Given the description of an element on the screen output the (x, y) to click on. 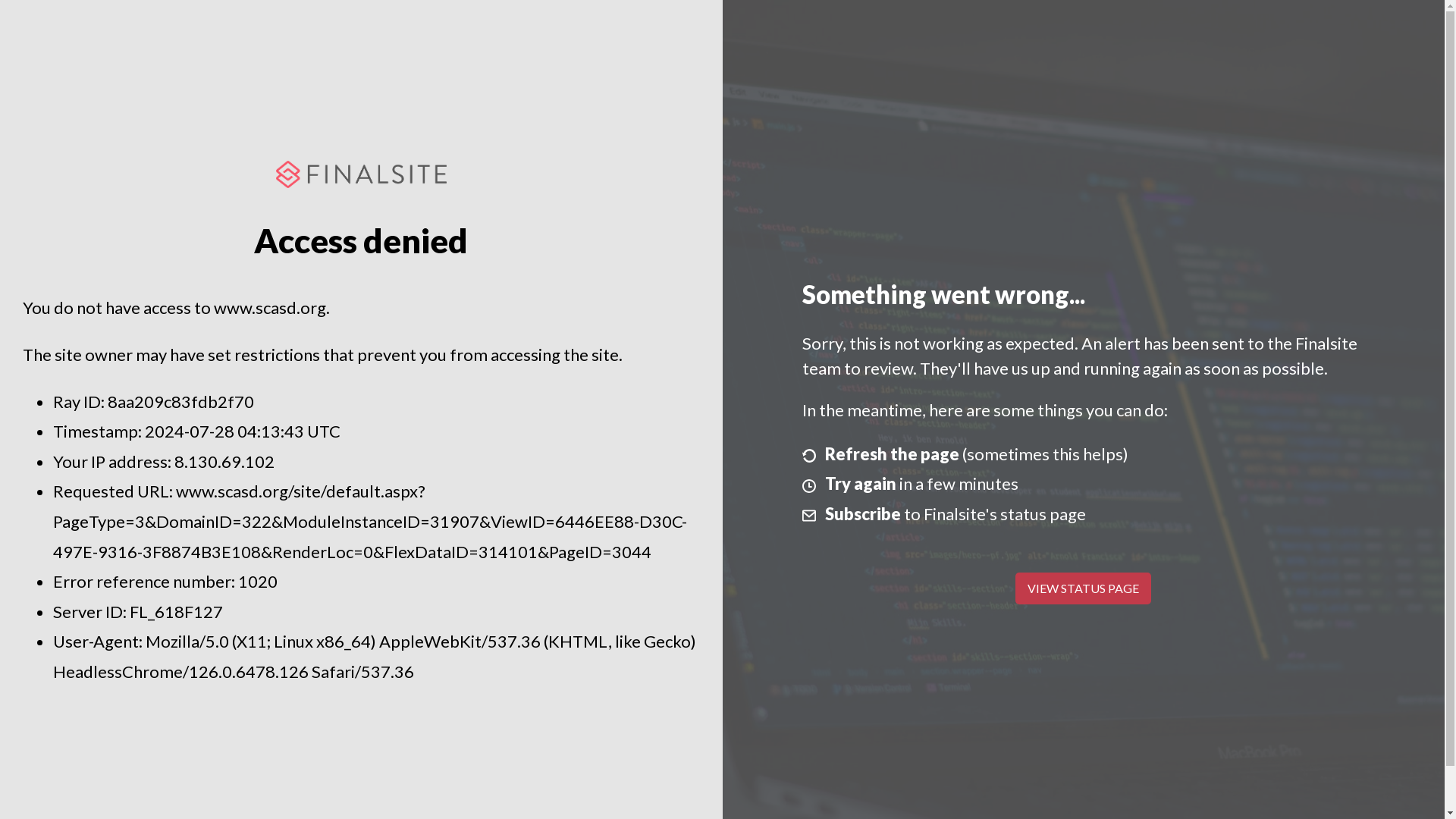
VIEW STATUS PAGE (1082, 588)
